Given the description of an element on the screen output the (x, y) to click on. 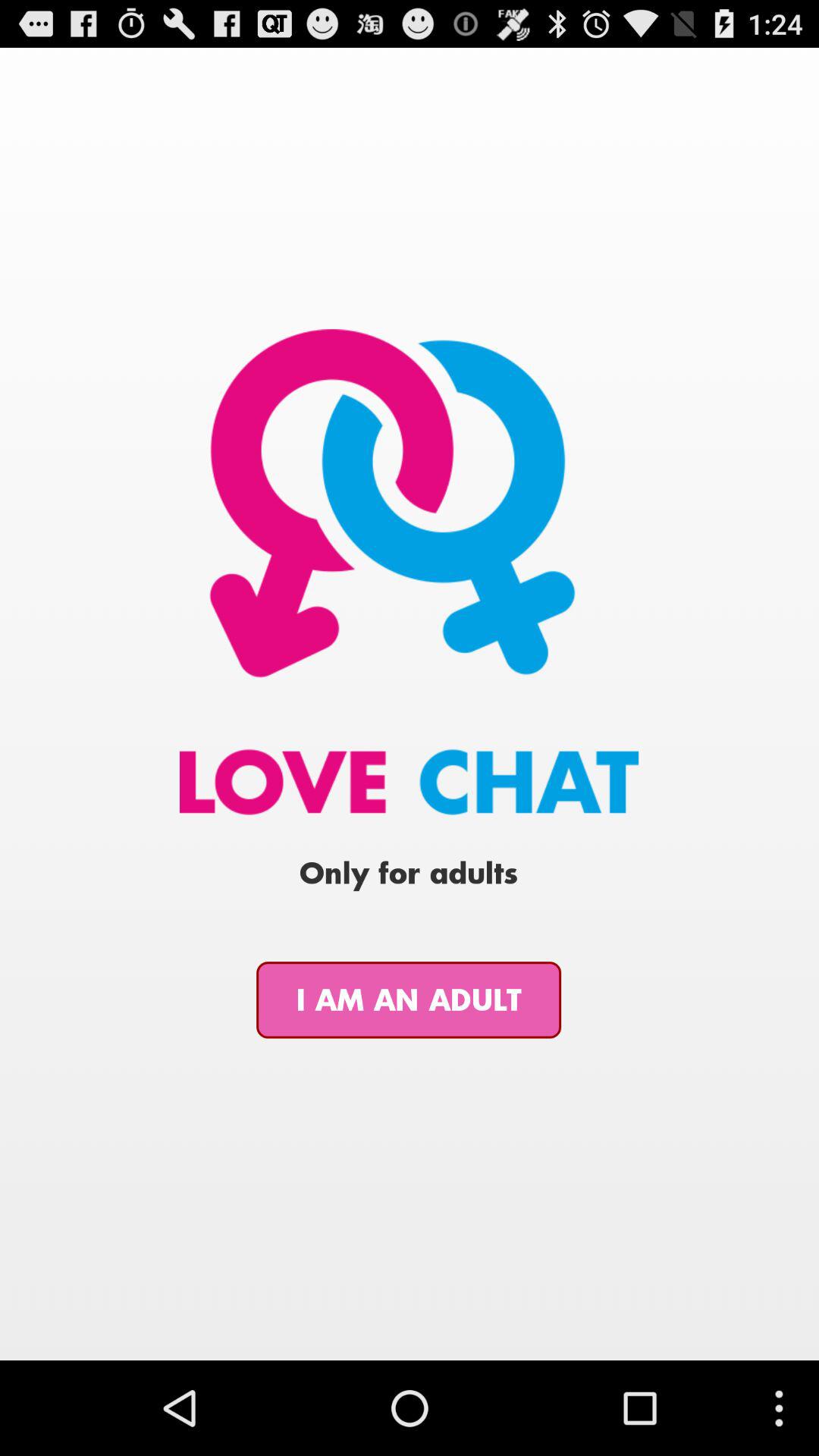
jump until the i am an item (408, 999)
